Given the description of an element on the screen output the (x, y) to click on. 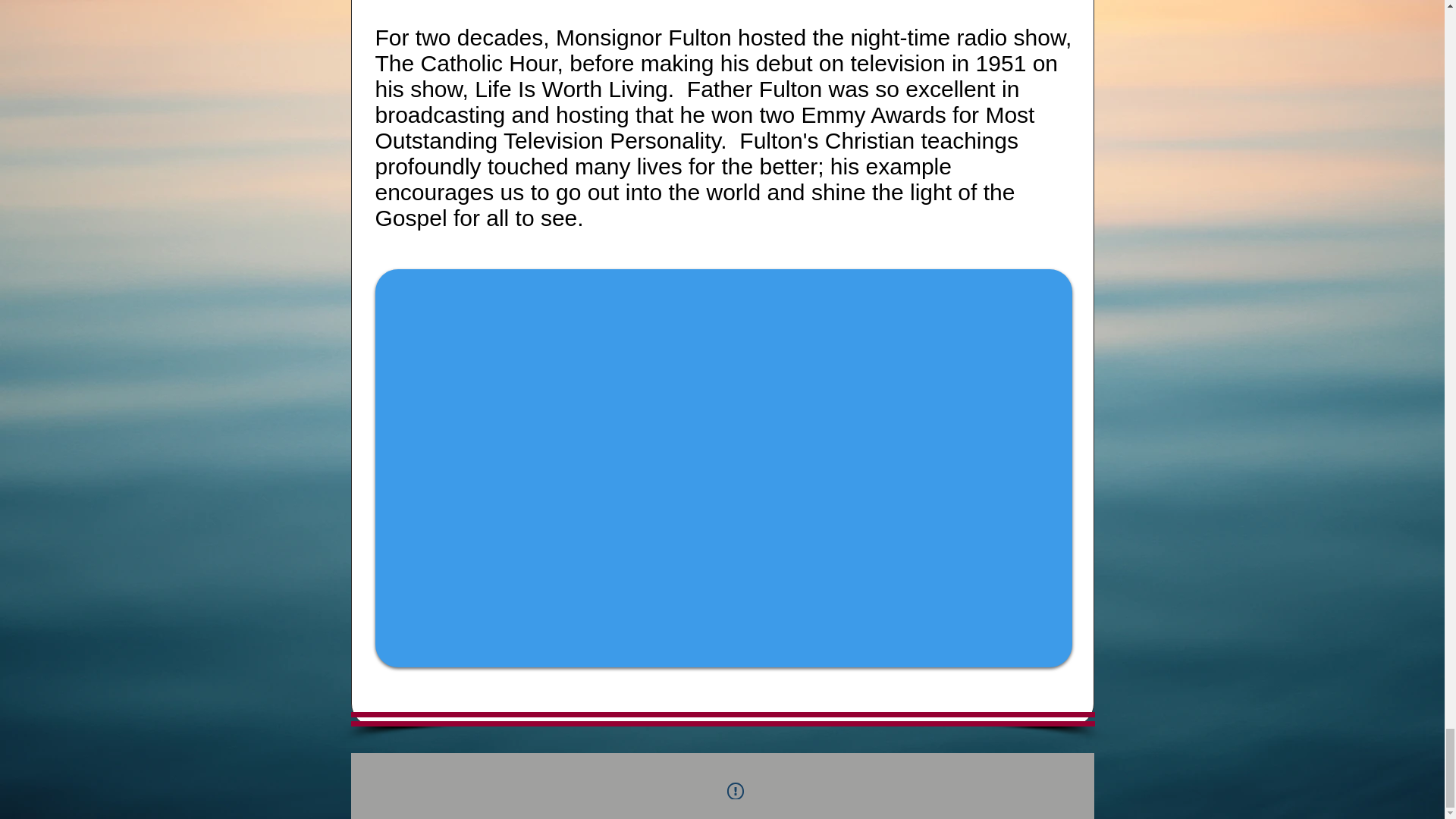
Emmy Awards (874, 114)
